Given the description of an element on the screen output the (x, y) to click on. 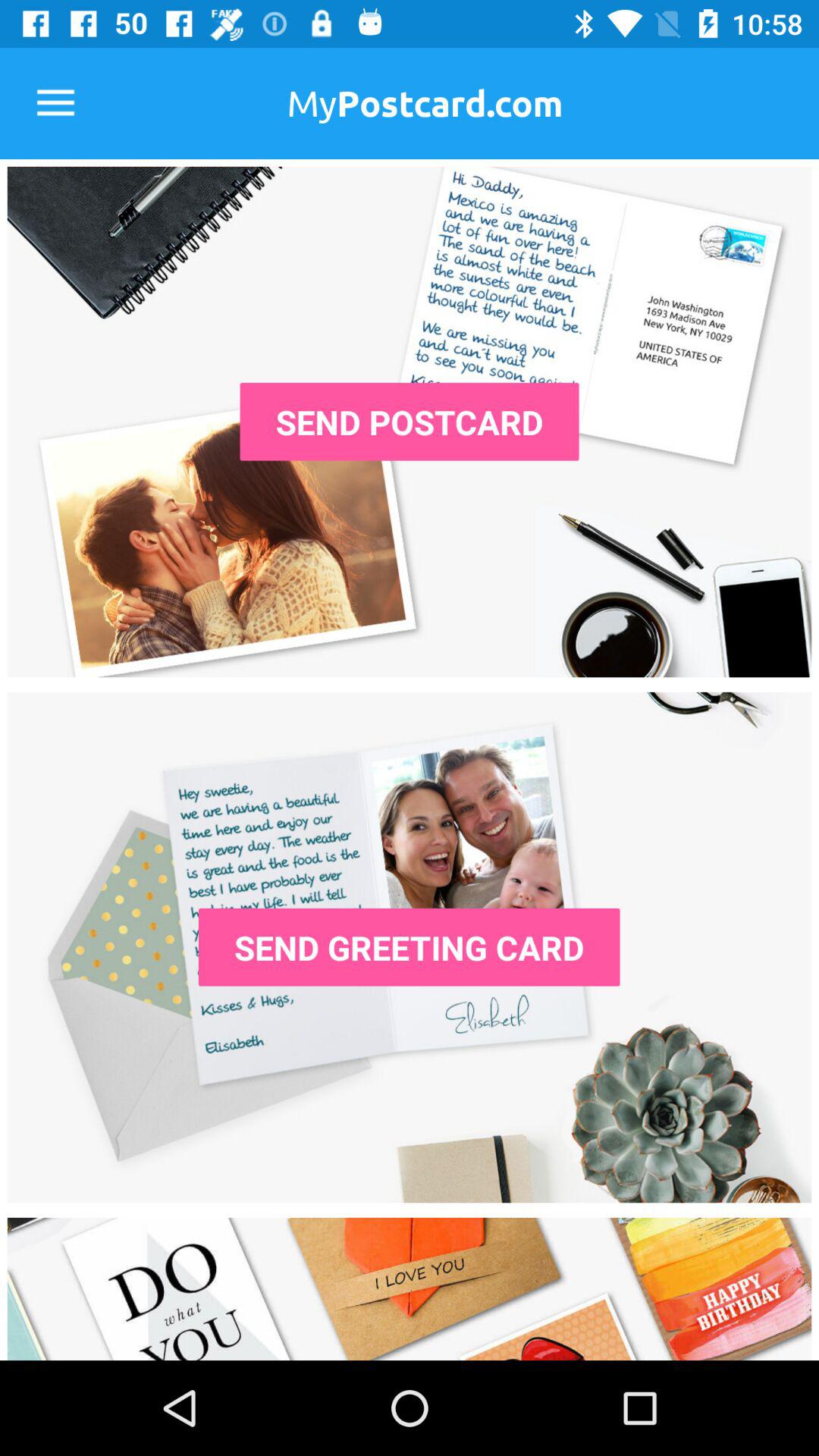
send greeting card (409, 947)
